Given the description of an element on the screen output the (x, y) to click on. 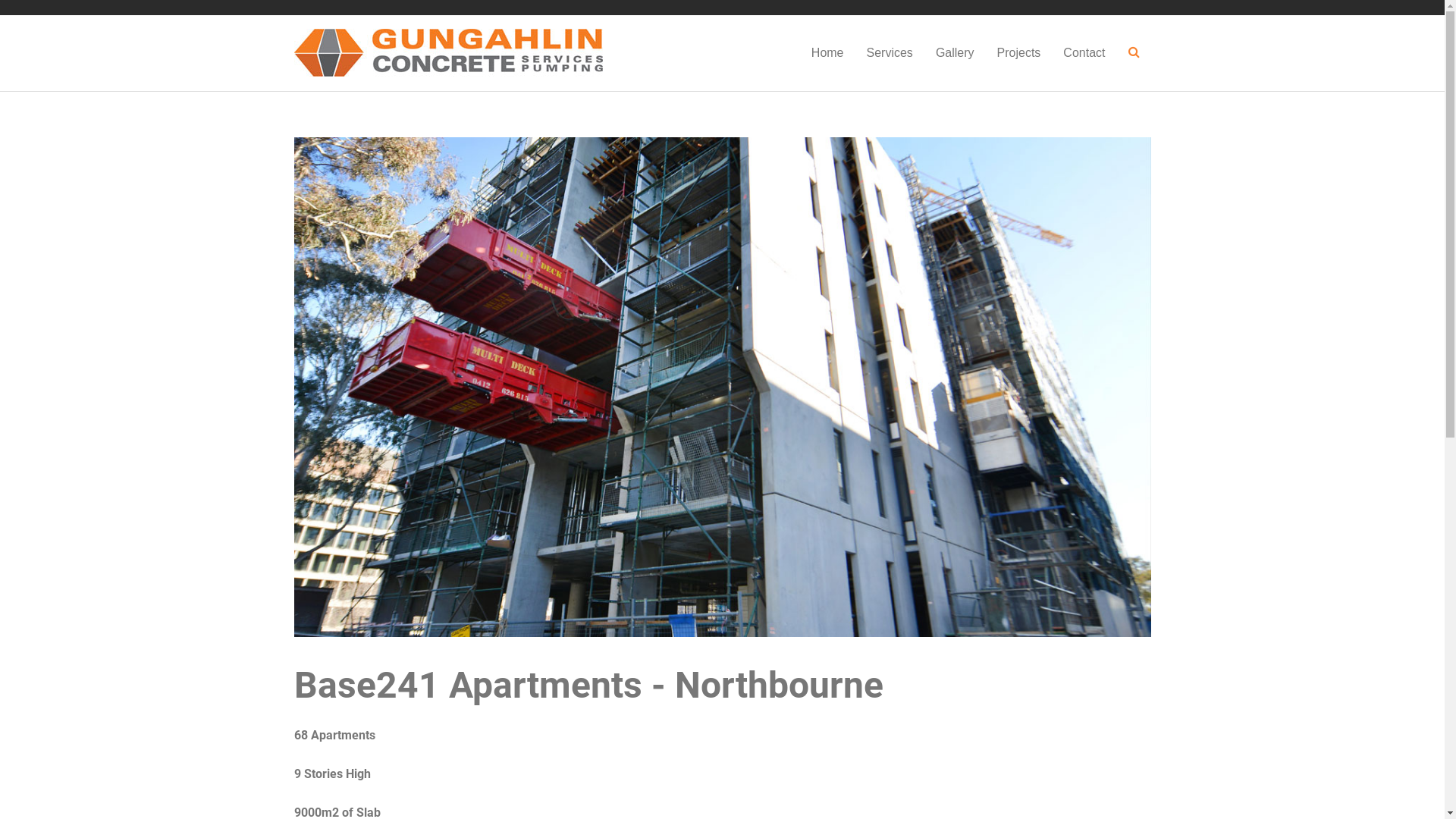
Home Element type: text (827, 53)
Gallery Element type: text (954, 53)
Contact Element type: text (1083, 53)
Services Element type: text (889, 53)
Projects Element type: text (1018, 53)
